Given the description of an element on the screen output the (x, y) to click on. 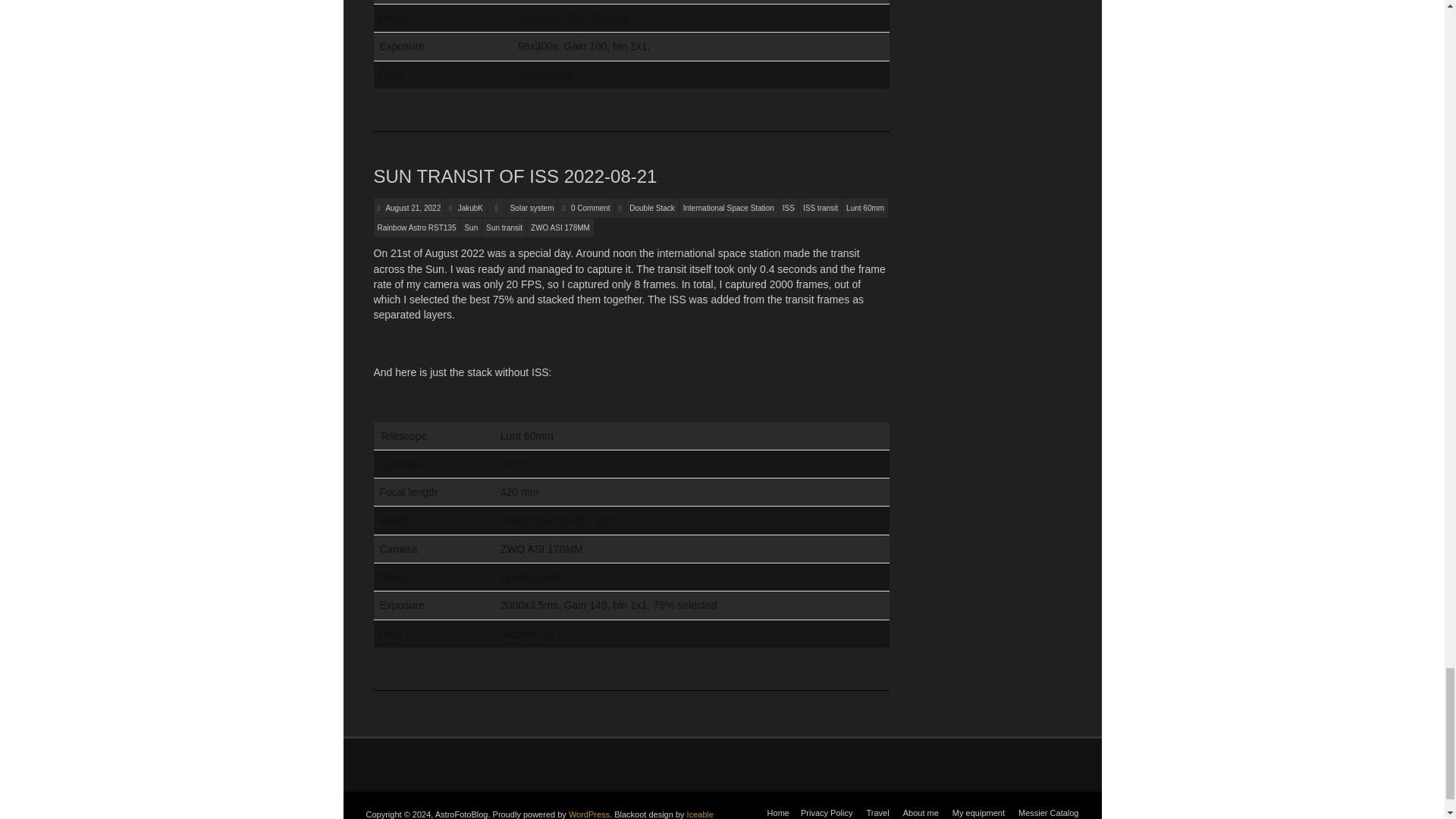
Category (496, 208)
Sun transit of ISS 2022-08-21 (412, 207)
Sun transit of ISS 2022-08-21 (514, 176)
View all posts by JakubK (470, 207)
